Given the description of an element on the screen output the (x, y) to click on. 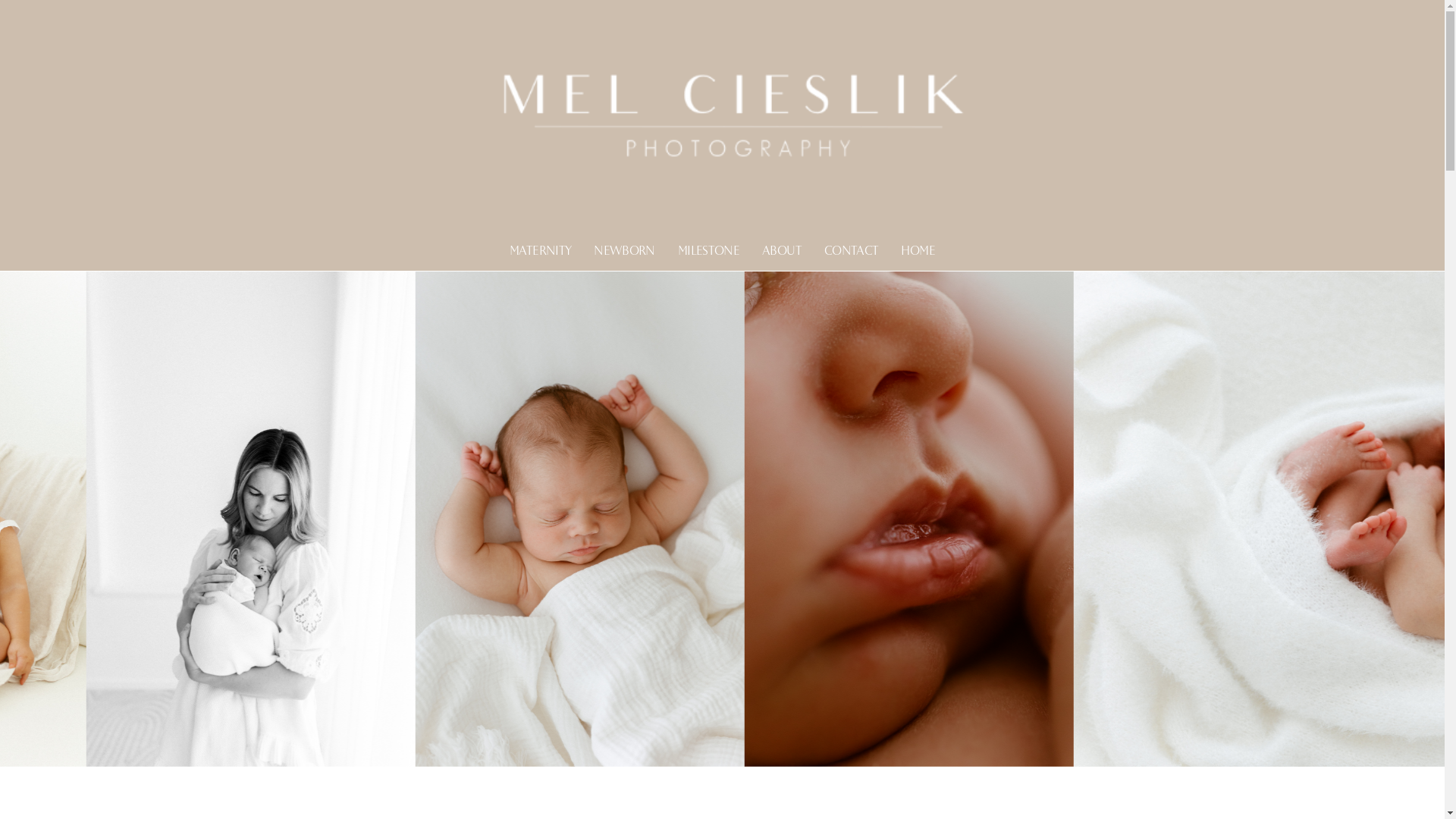
NEWBORN Element type: text (624, 251)
HOME Element type: text (917, 251)
MILESTONE Element type: text (708, 251)
CONTACT Element type: text (851, 251)
ABOUT Element type: text (781, 251)
MATERNITY Element type: text (540, 251)
